Given the description of an element on the screen output the (x, y) to click on. 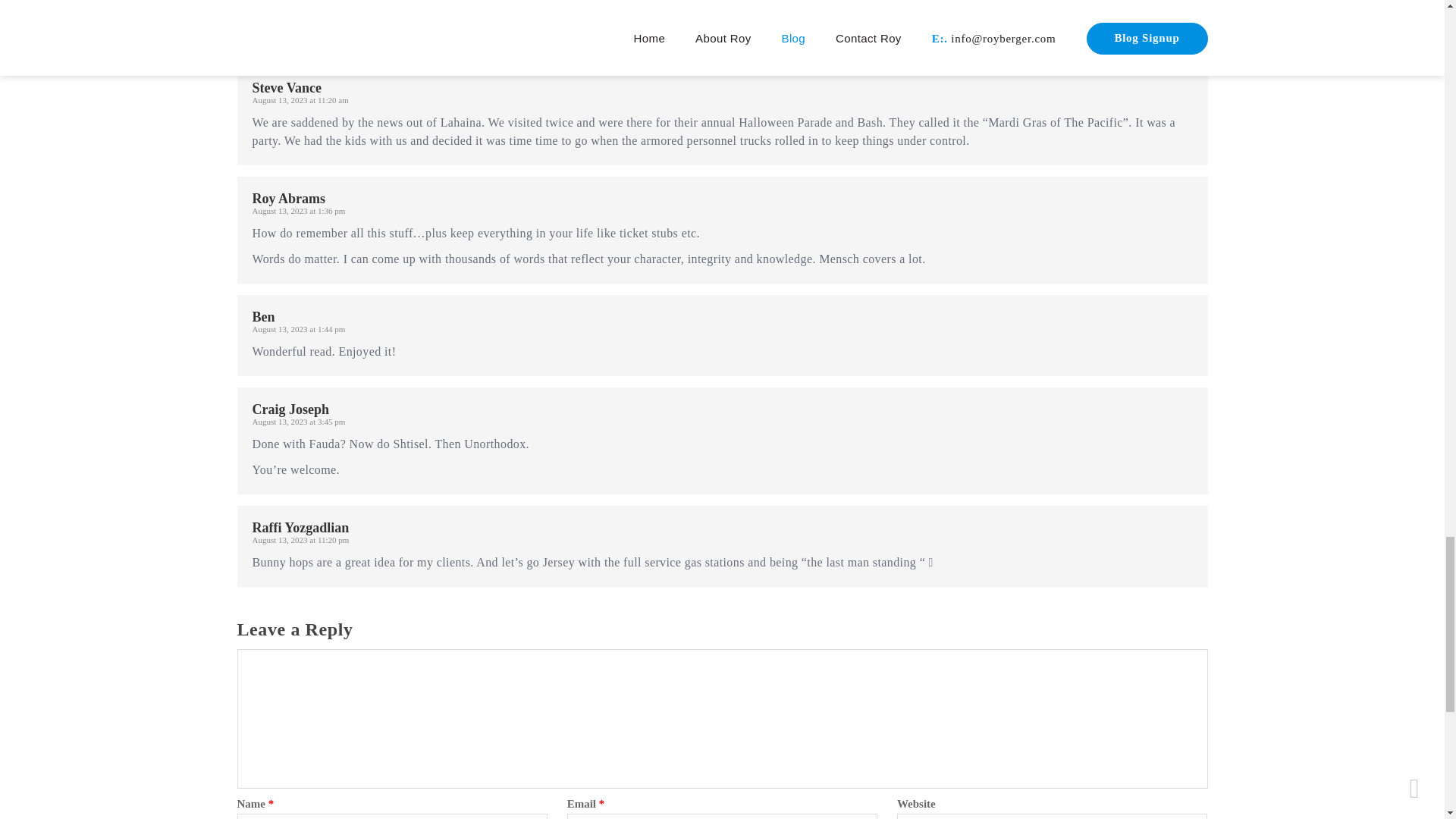
August 13, 2023 at 1:36 pm (298, 210)
August 13, 2023 at 11:20 am (299, 99)
Steve Vance (286, 87)
August 13, 2023 at 1:44 pm (298, 328)
August 13, 2023 at 9:48 am (297, 7)
August 13, 2023 at 3:45 pm (298, 420)
August 13, 2023 at 11:20 pm (300, 539)
